Given the description of an element on the screen output the (x, y) to click on. 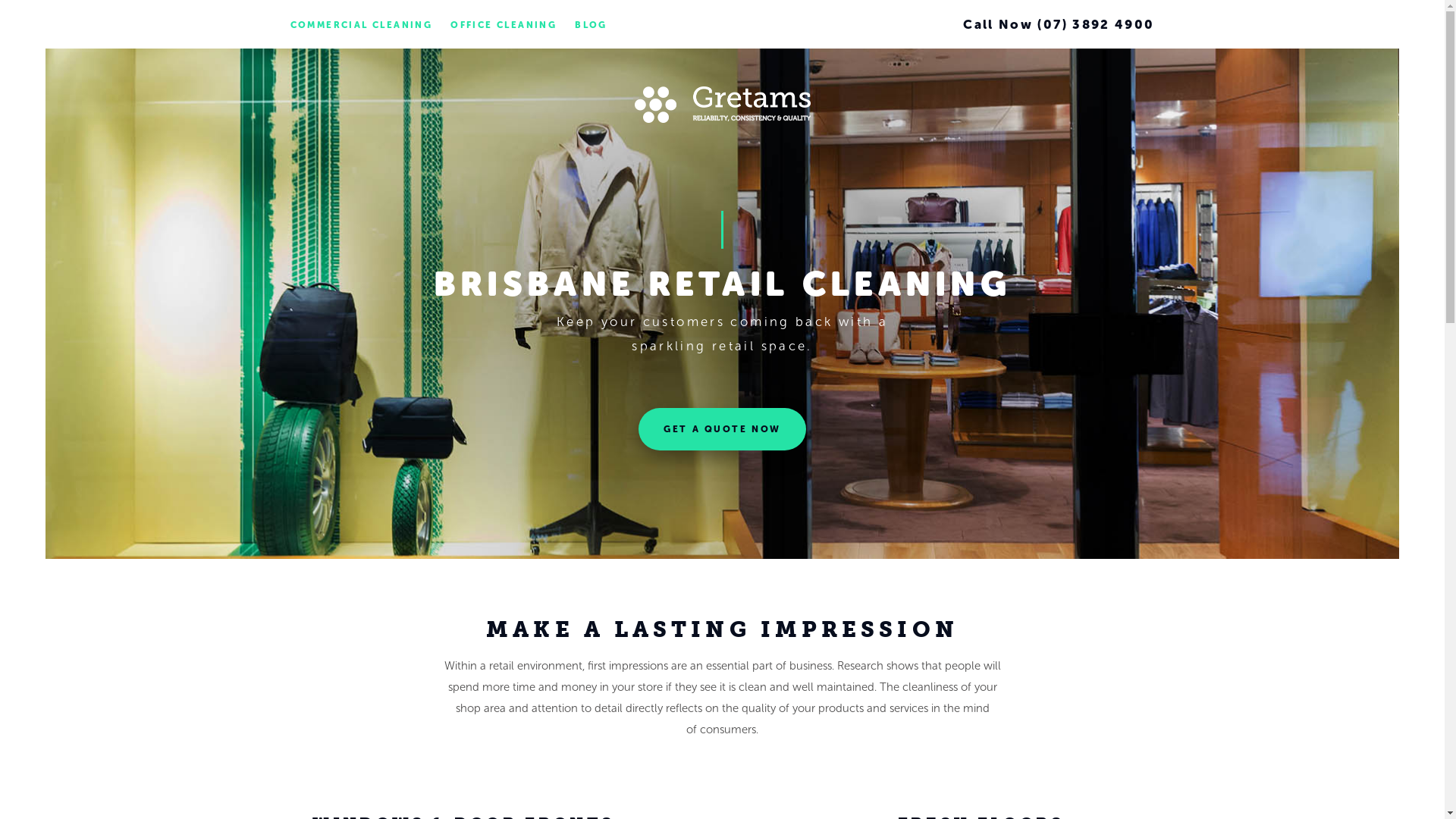
GET A QUOTE NOW Element type: text (721, 428)
OFFICE CLEANING Element type: text (503, 24)
Call Now (07) 3892 4900 Element type: text (1058, 24)
BLOG Element type: text (590, 24)
COMMERCIAL CLEANING Element type: text (360, 24)
